Given the description of an element on the screen output the (x, y) to click on. 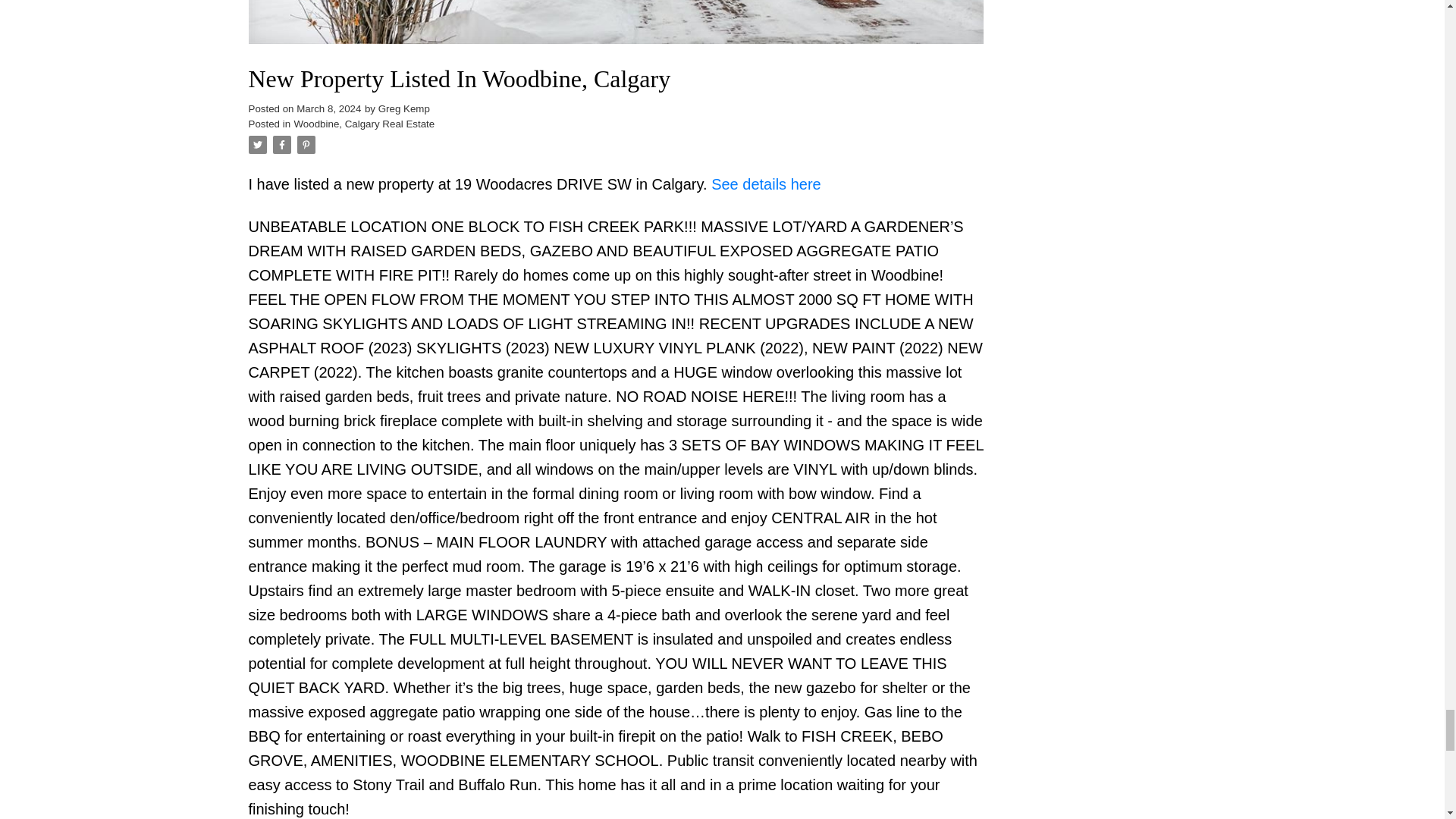
Read full post (616, 31)
